Given the description of an element on the screen output the (x, y) to click on. 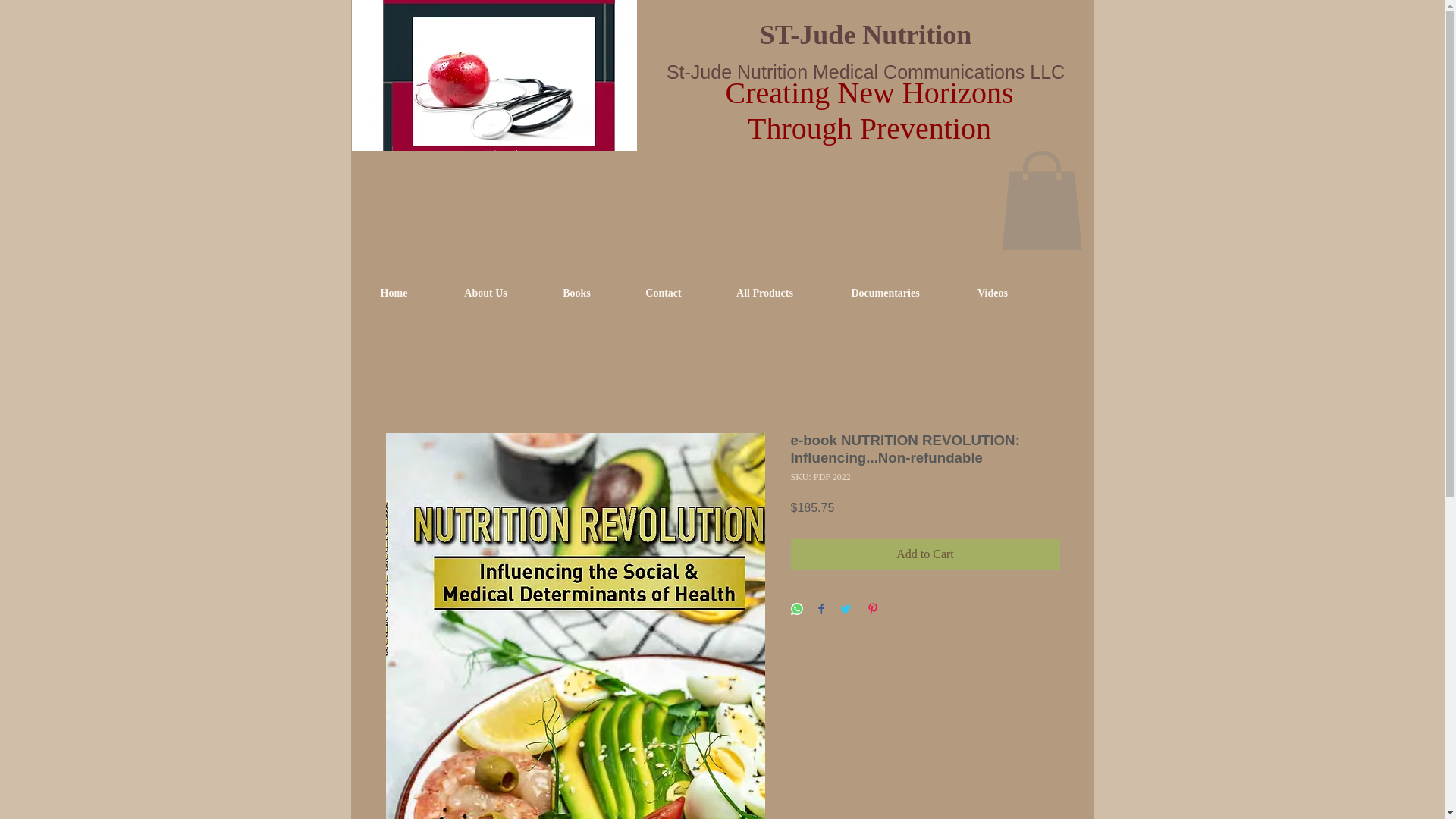
Documentaries (885, 292)
Contact (663, 292)
ST-Jude Nutrition (866, 27)
All Products (764, 292)
Add to Cart (924, 553)
Books (576, 292)
St-Jude Nutrition Medical Communications LLC (865, 71)
Home (394, 292)
About Us (485, 292)
Videos (992, 292)
